Given the description of an element on the screen output the (x, y) to click on. 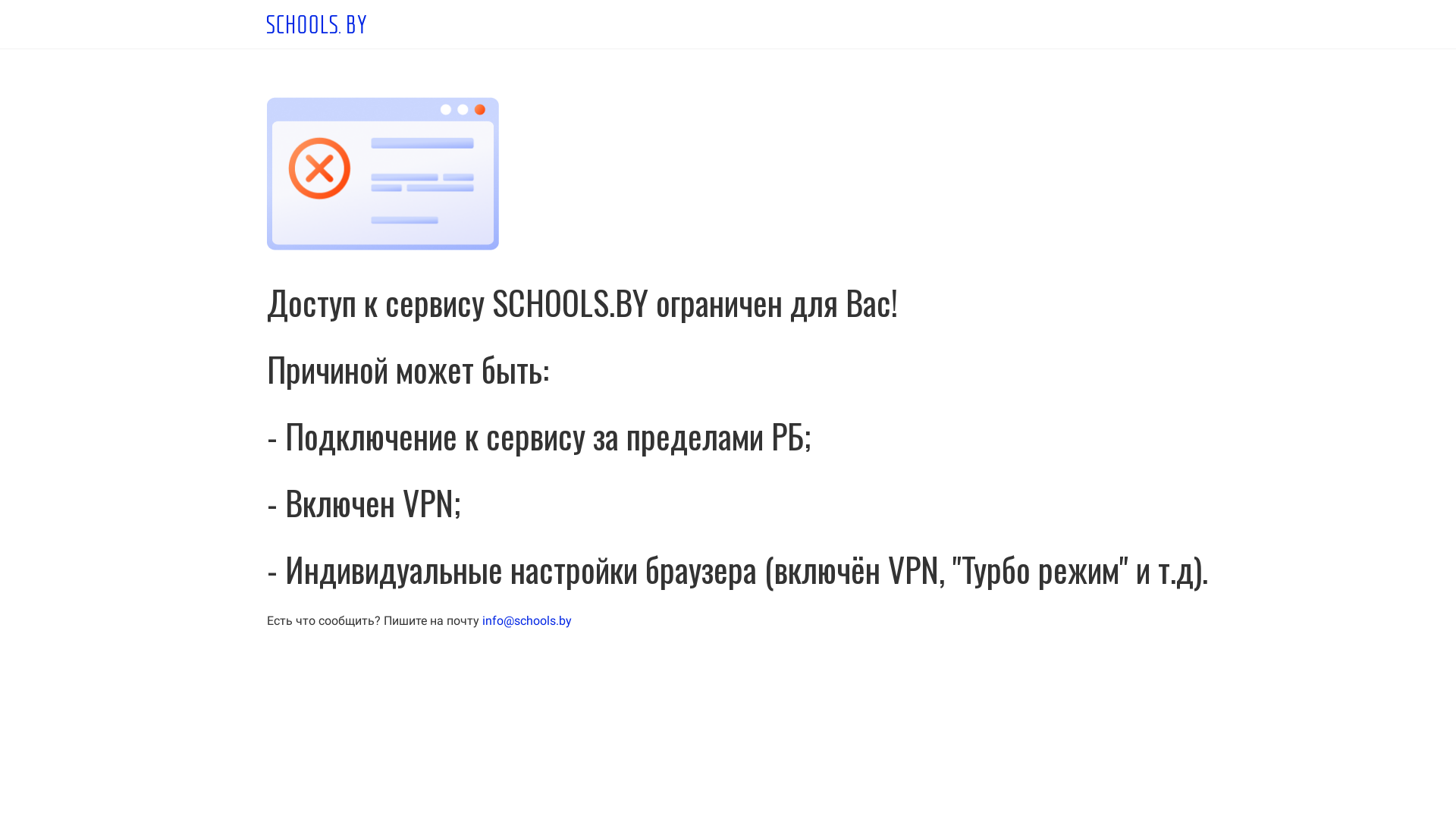
info@schools.by Element type: text (526, 620)
